Given the description of an element on the screen output the (x, y) to click on. 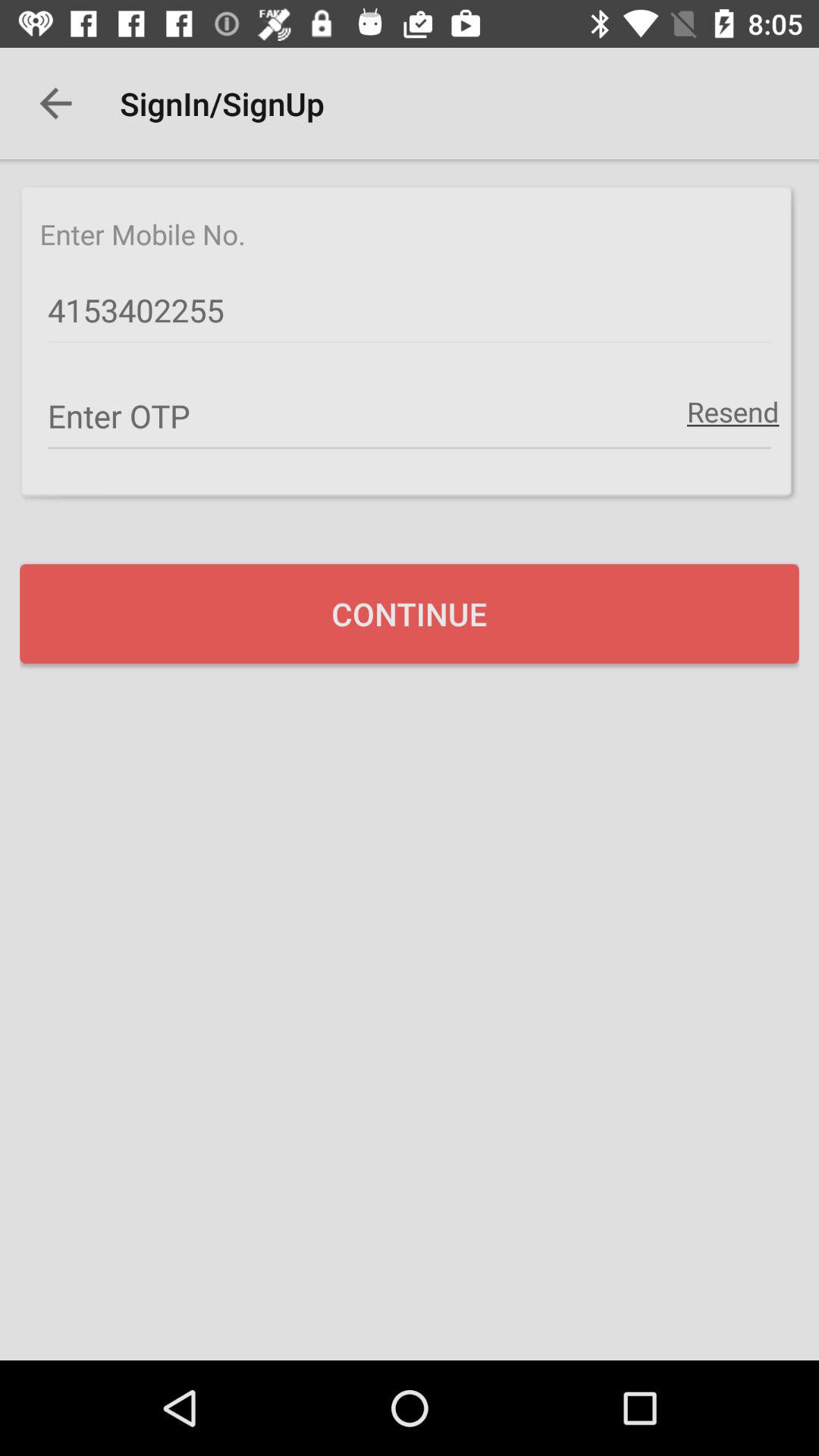
turn off the icon below the 4153402255 icon (733, 411)
